Given the description of an element on the screen output the (x, y) to click on. 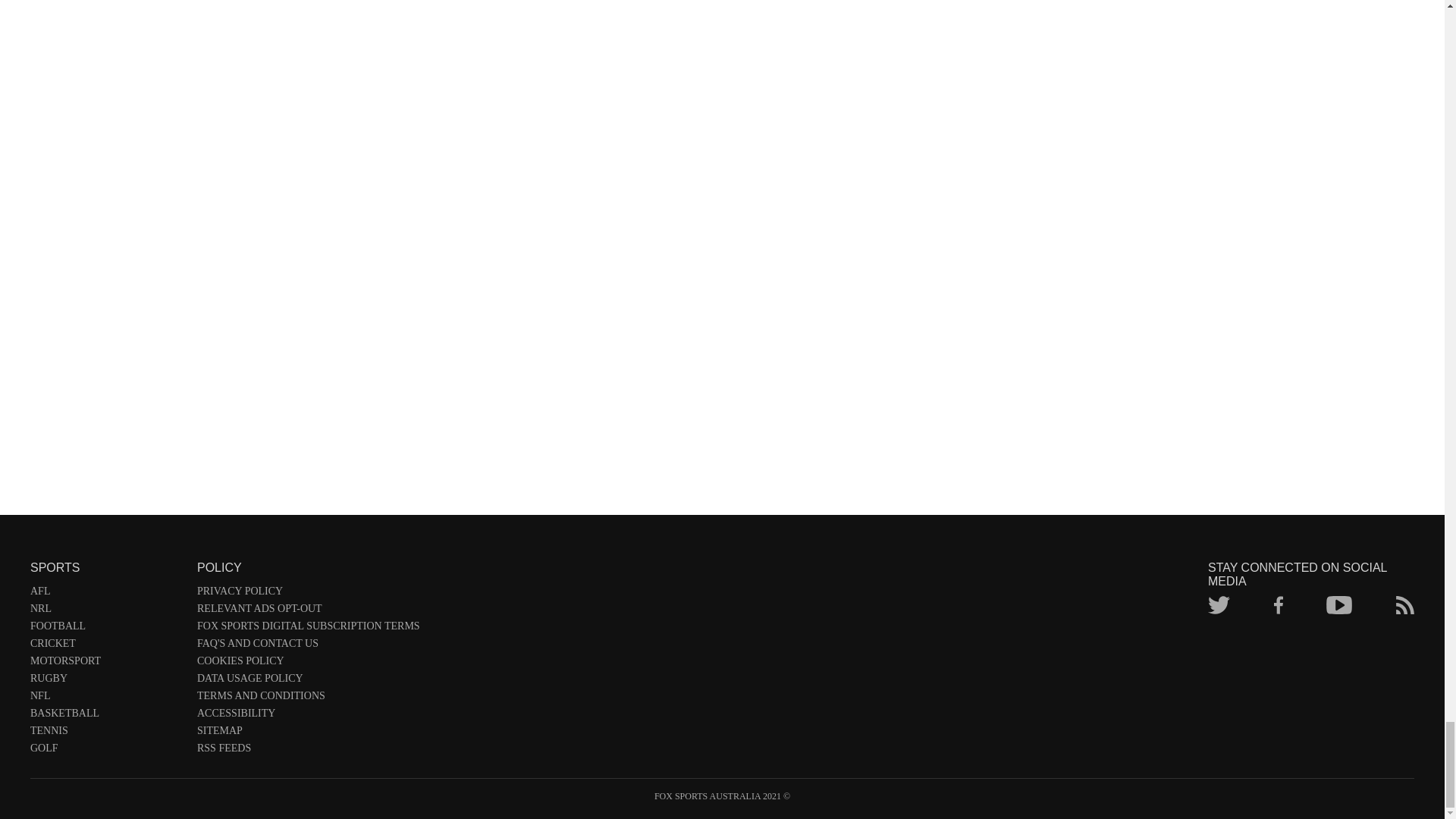
BASKETBALL (106, 715)
FOOTBALL (106, 628)
MOTORSPORT (106, 663)
NFL (106, 698)
AFL (106, 593)
RUGBY (106, 681)
CRICKET (106, 646)
NRL (106, 610)
